Given the description of an element on the screen output the (x, y) to click on. 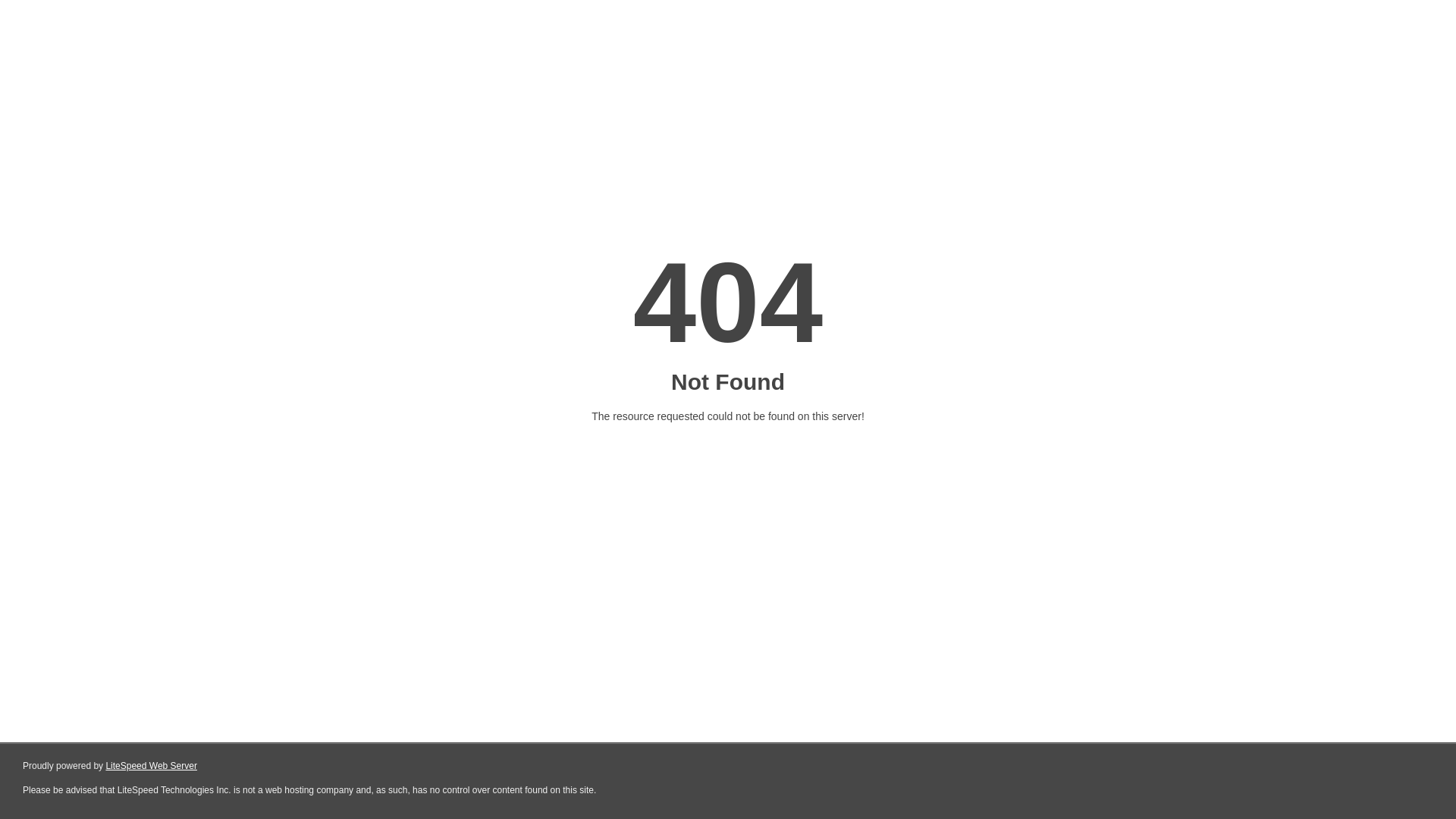
LiteSpeed Web Server Element type: text (151, 765)
